Given the description of an element on the screen output the (x, y) to click on. 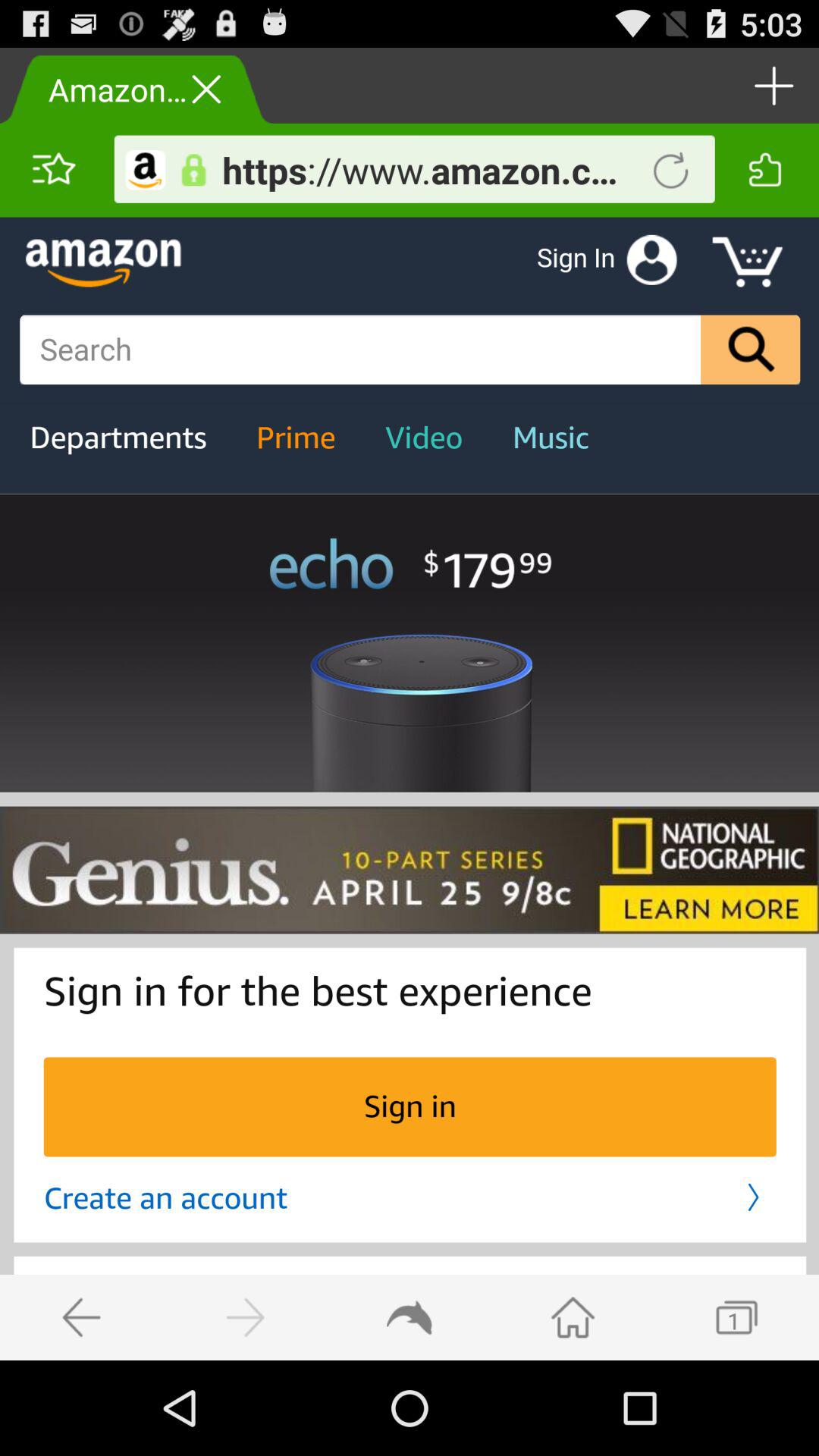
increment button (771, 85)
